Given the description of an element on the screen output the (x, y) to click on. 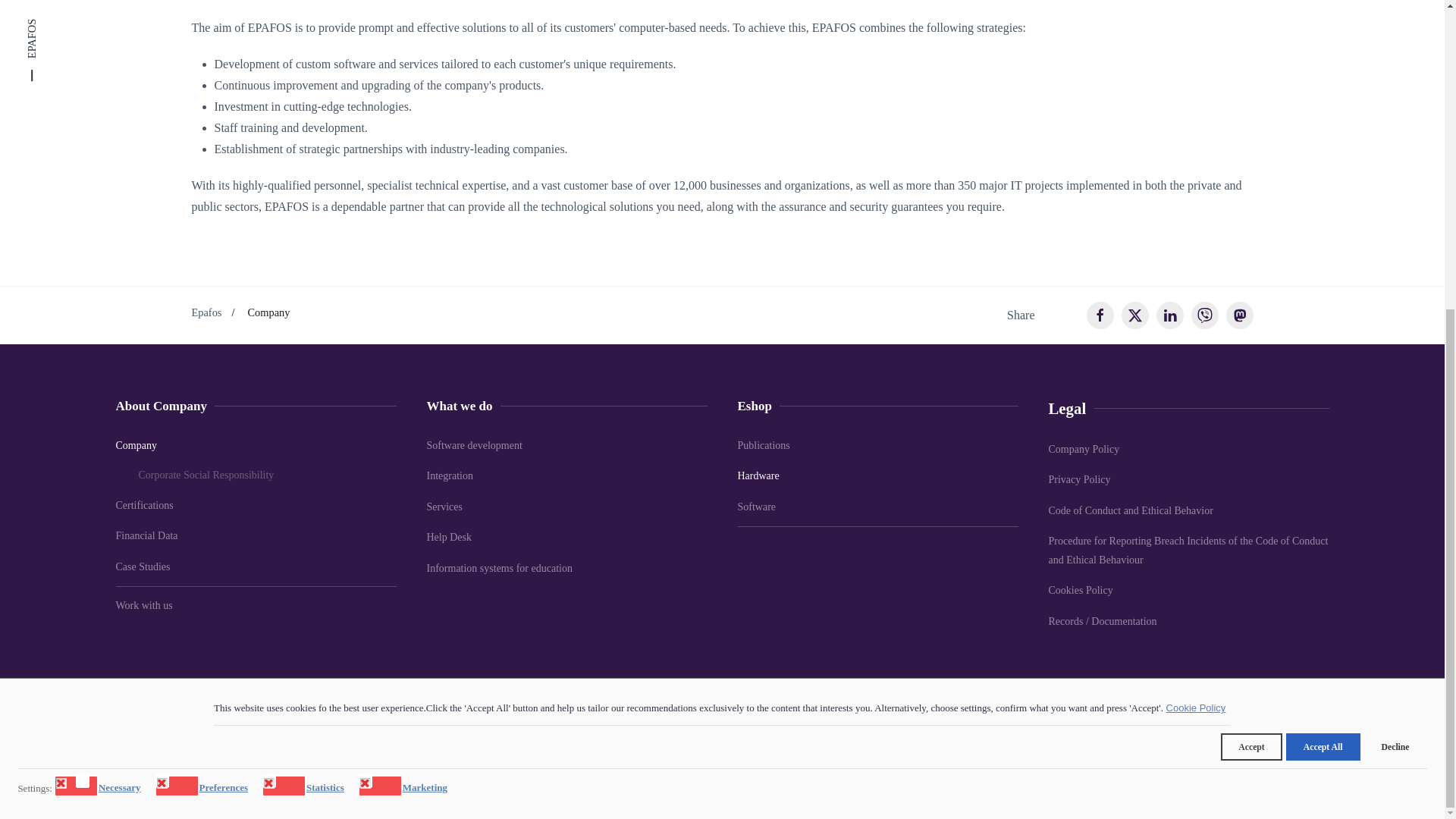
Share to Viber (1204, 315)
Select which cookies you will allow to be used. (34, 298)
Marketing (427, 296)
Accept All (1322, 257)
Share to facebook (1099, 315)
Share to Vivaldi Social Mastodon (1239, 315)
Statistics (327, 296)
Share to Twitter (1134, 315)
Share to Linkedin (1169, 315)
Cookie Policy (1196, 219)
Decline (1395, 257)
Accept (1251, 257)
Necessary (122, 296)
Preferences (224, 296)
